Given the description of an element on the screen output the (x, y) to click on. 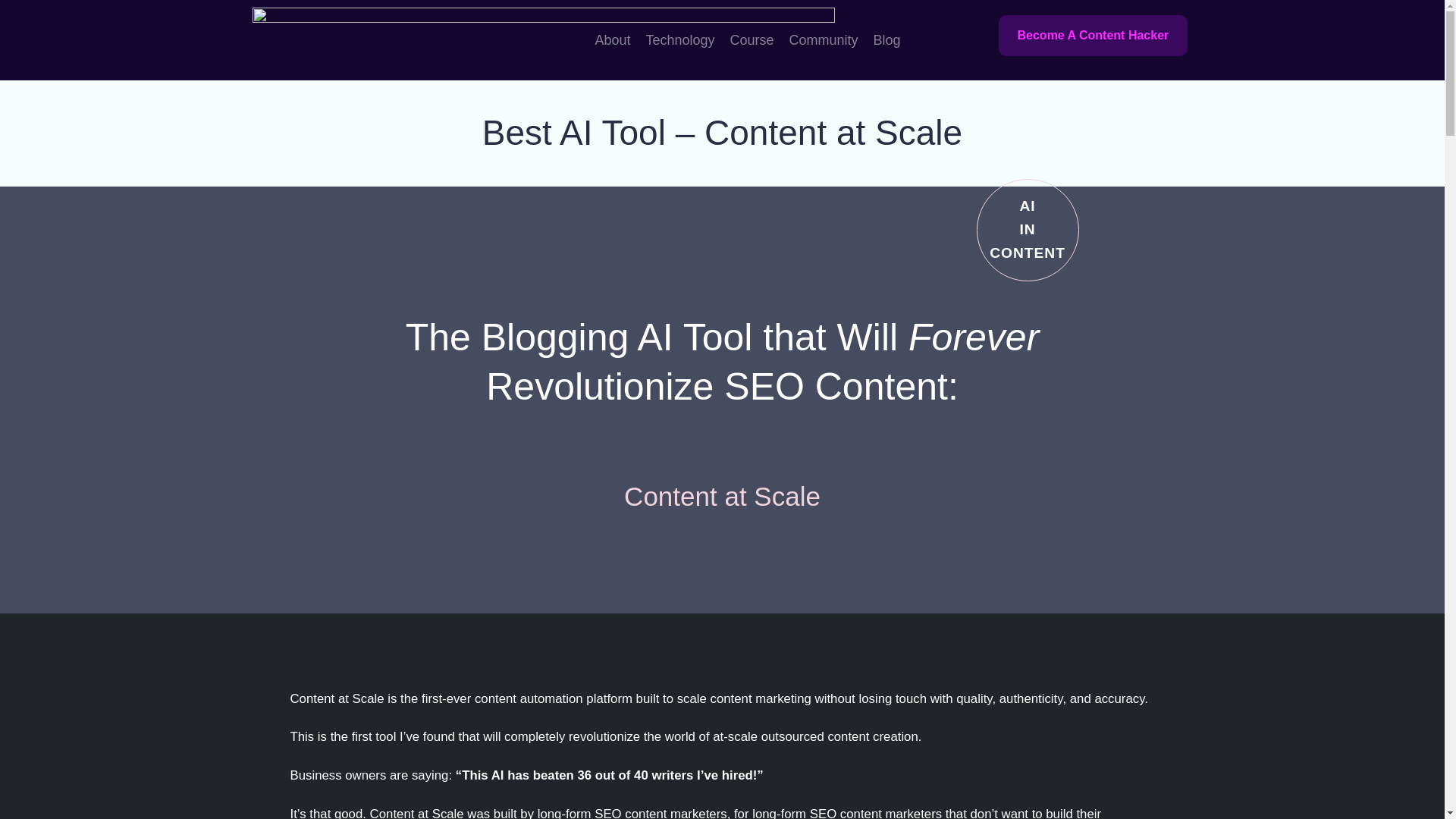
About (612, 39)
Course (752, 39)
Community (824, 39)
Become A Content Hacker (1092, 35)
Blog (887, 39)
Technology (679, 39)
